Given the description of an element on the screen output the (x, y) to click on. 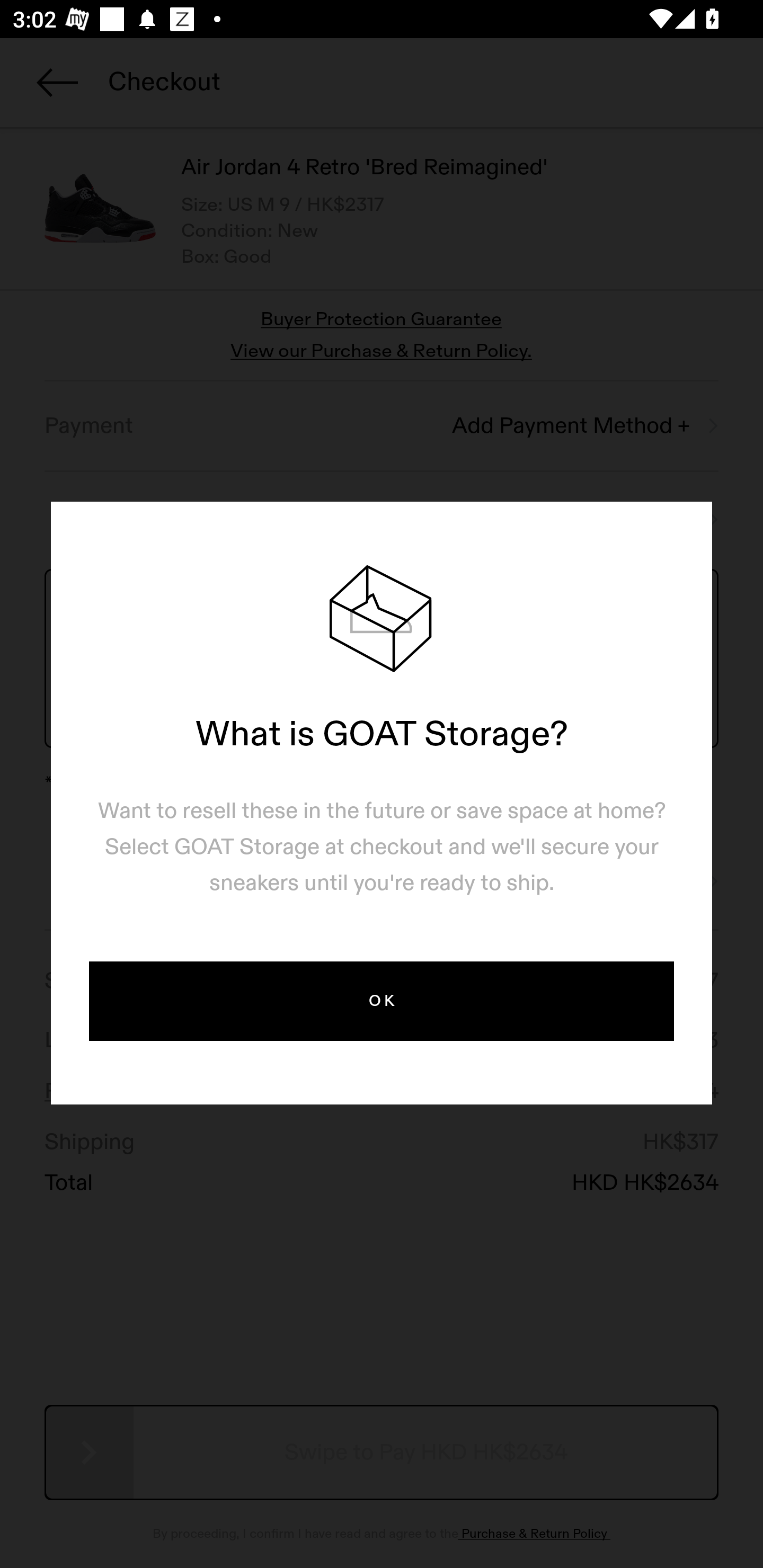
OK (381, 1001)
